Given the description of an element on the screen output the (x, y) to click on. 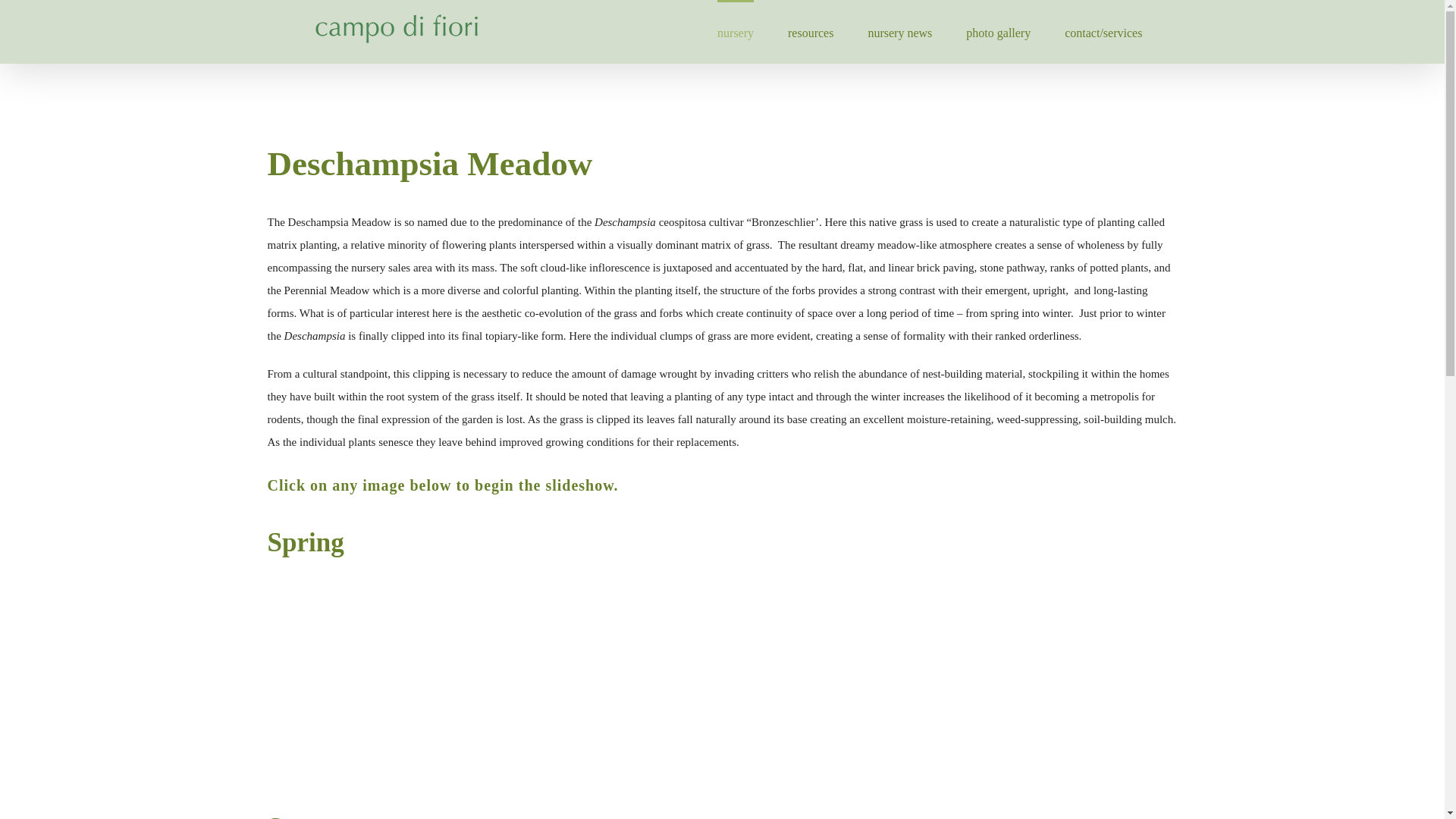
nursery news (899, 31)
photo gallery (998, 31)
